Given the description of an element on the screen output the (x, y) to click on. 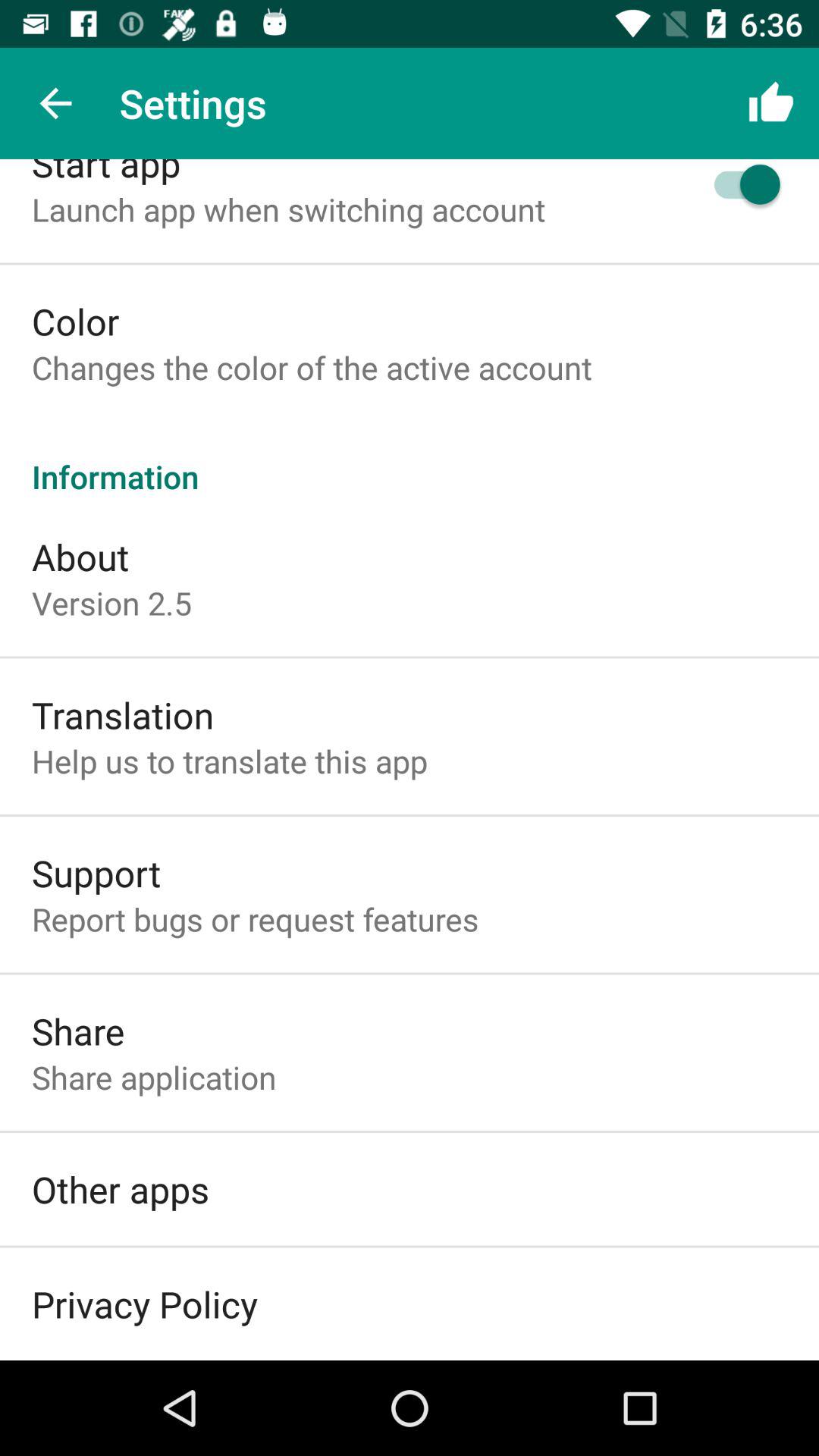
turn on item below other apps item (144, 1303)
